Given the description of an element on the screen output the (x, y) to click on. 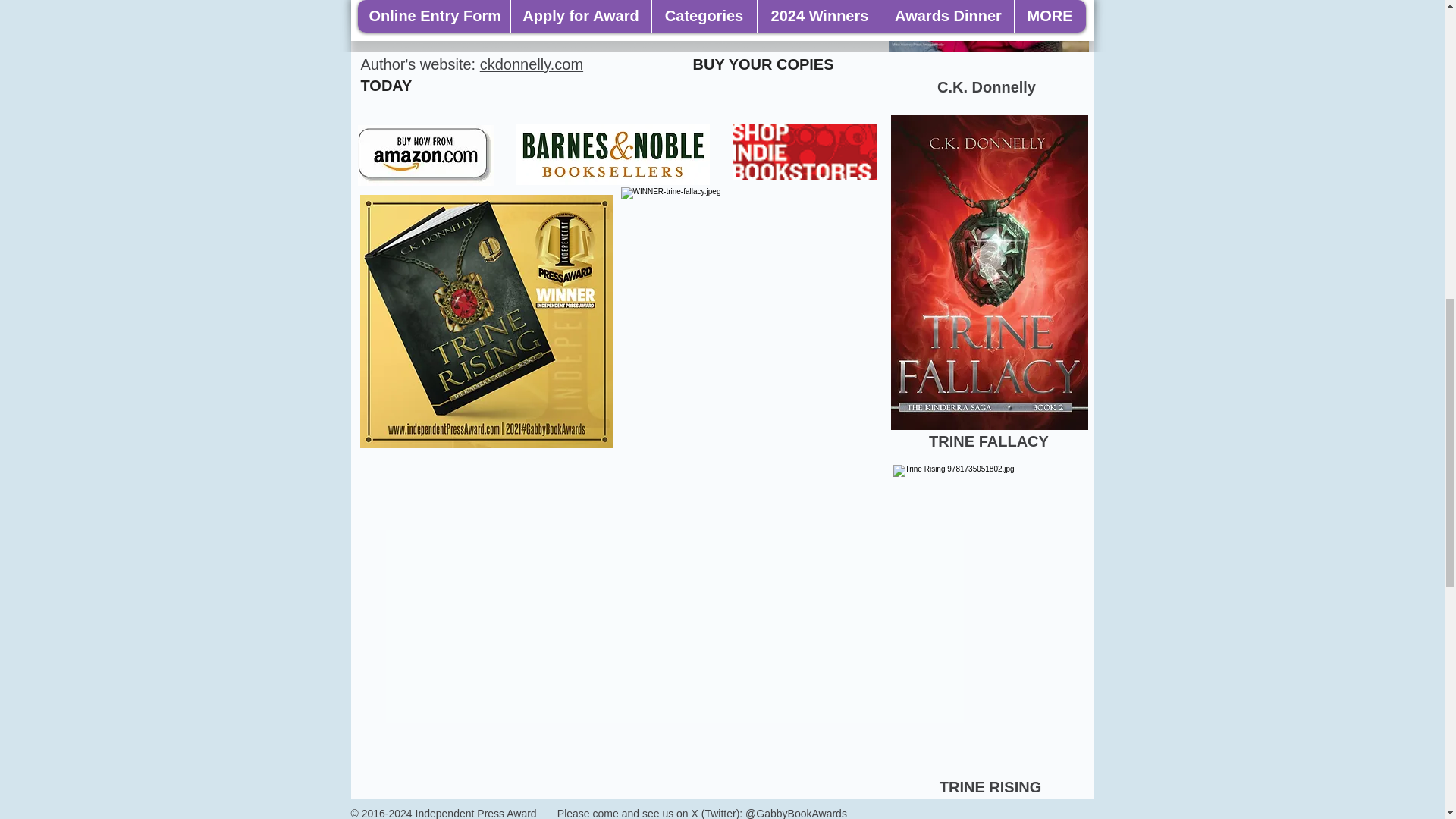
ckdonnelly.com (531, 64)
